Given the description of an element on the screen output the (x, y) to click on. 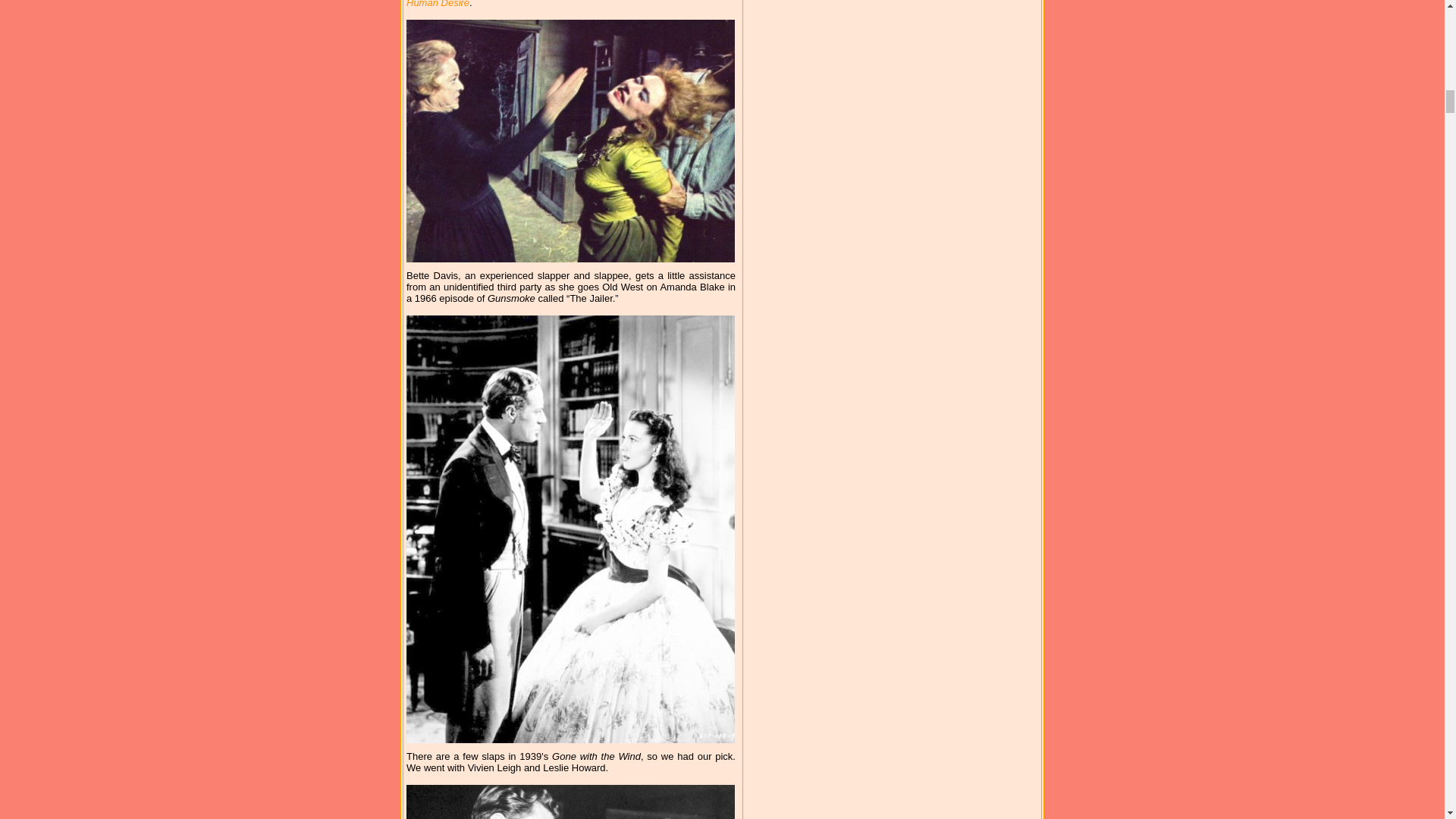
Human Desire (437, 4)
